Given the description of an element on the screen output the (x, y) to click on. 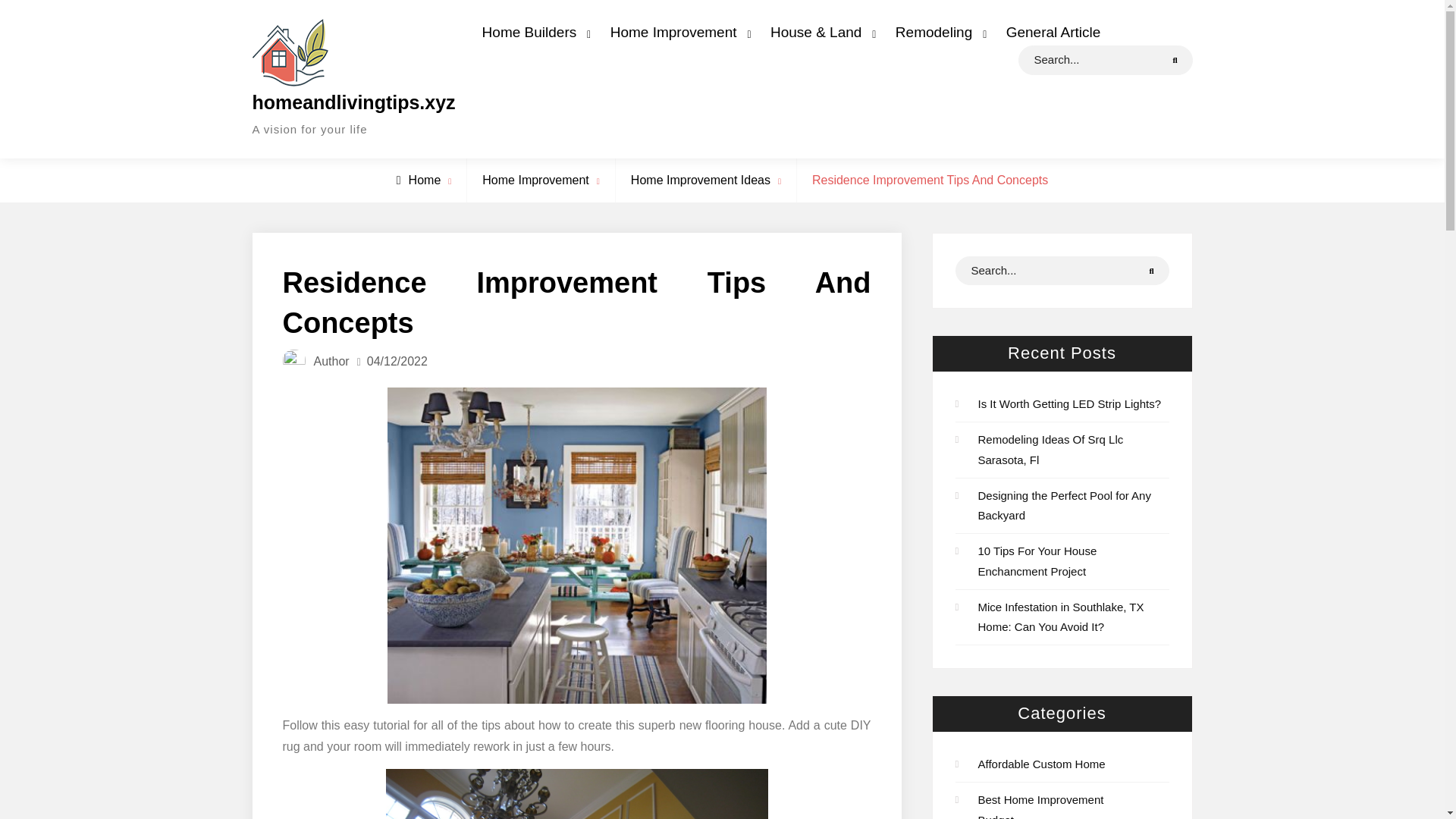
Home Improvement (535, 179)
General Article (1053, 31)
homeandlivingtips.xyz (352, 102)
Home Builders (532, 31)
Home Improvement Ideas (700, 179)
Remodeling (937, 31)
Home Improvement (676, 31)
Author (331, 360)
Home (418, 179)
